Given the description of an element on the screen output the (x, y) to click on. 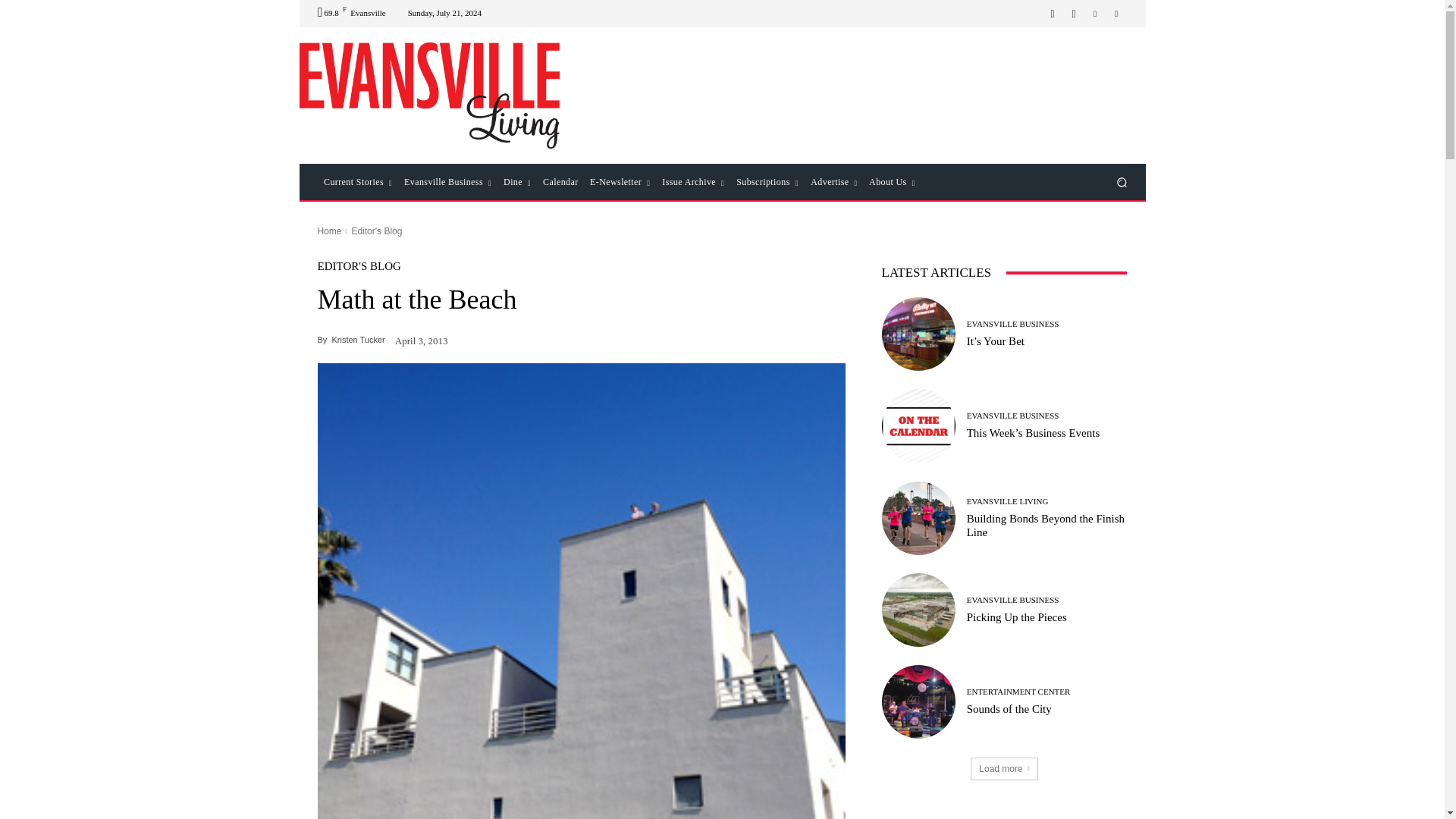
Twitter (1115, 13)
Facebook (1052, 13)
Instagram (1073, 13)
View all posts in Editor's Blog (375, 231)
Linkedin (1094, 13)
